Given the description of an element on the screen output the (x, y) to click on. 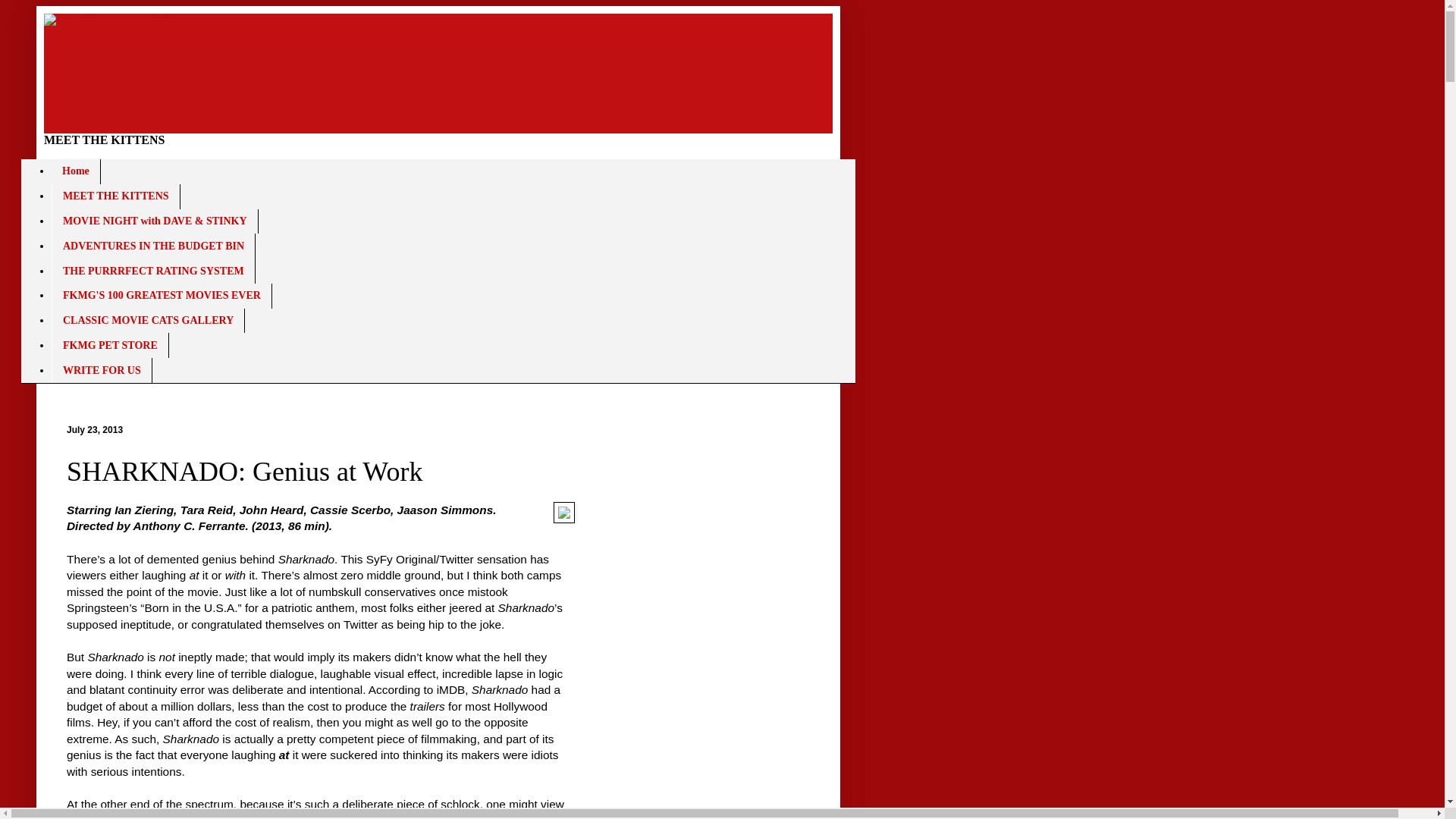
ADVENTURES IN THE BUDGET BIN (153, 245)
Home (75, 171)
CLASSIC MOVIE CATS GALLERY (147, 320)
MEET THE KITTENS (115, 196)
FKMG'S 100 GREATEST MOVIES EVER (161, 295)
WRITE FOR US (101, 370)
FKMG PET STORE (109, 344)
THE PURRRFECT RATING SYSTEM (153, 270)
